Given the description of an element on the screen output the (x, y) to click on. 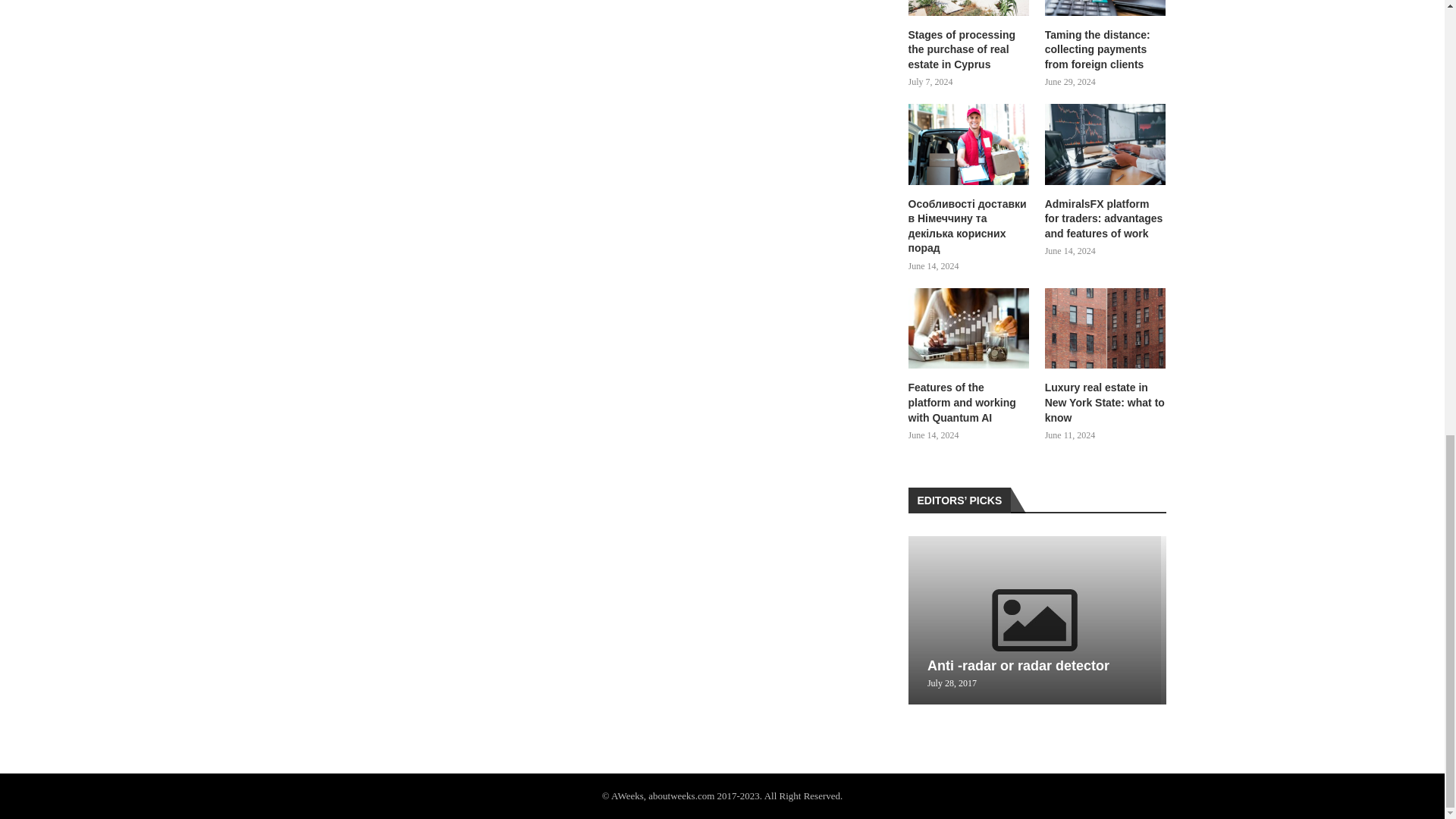
Luxury real estate in New York State: what to know (1105, 328)
Luxury real estate in New York State: what to know (1105, 402)
Stages of processing the purchase of real estate in Cyprus (968, 7)
Features of the platform and working with Quantum AI (968, 328)
Features of the platform and working with Quantum AI (968, 402)
Stages of processing the purchase of real estate in Cyprus (968, 49)
